Given the description of an element on the screen output the (x, y) to click on. 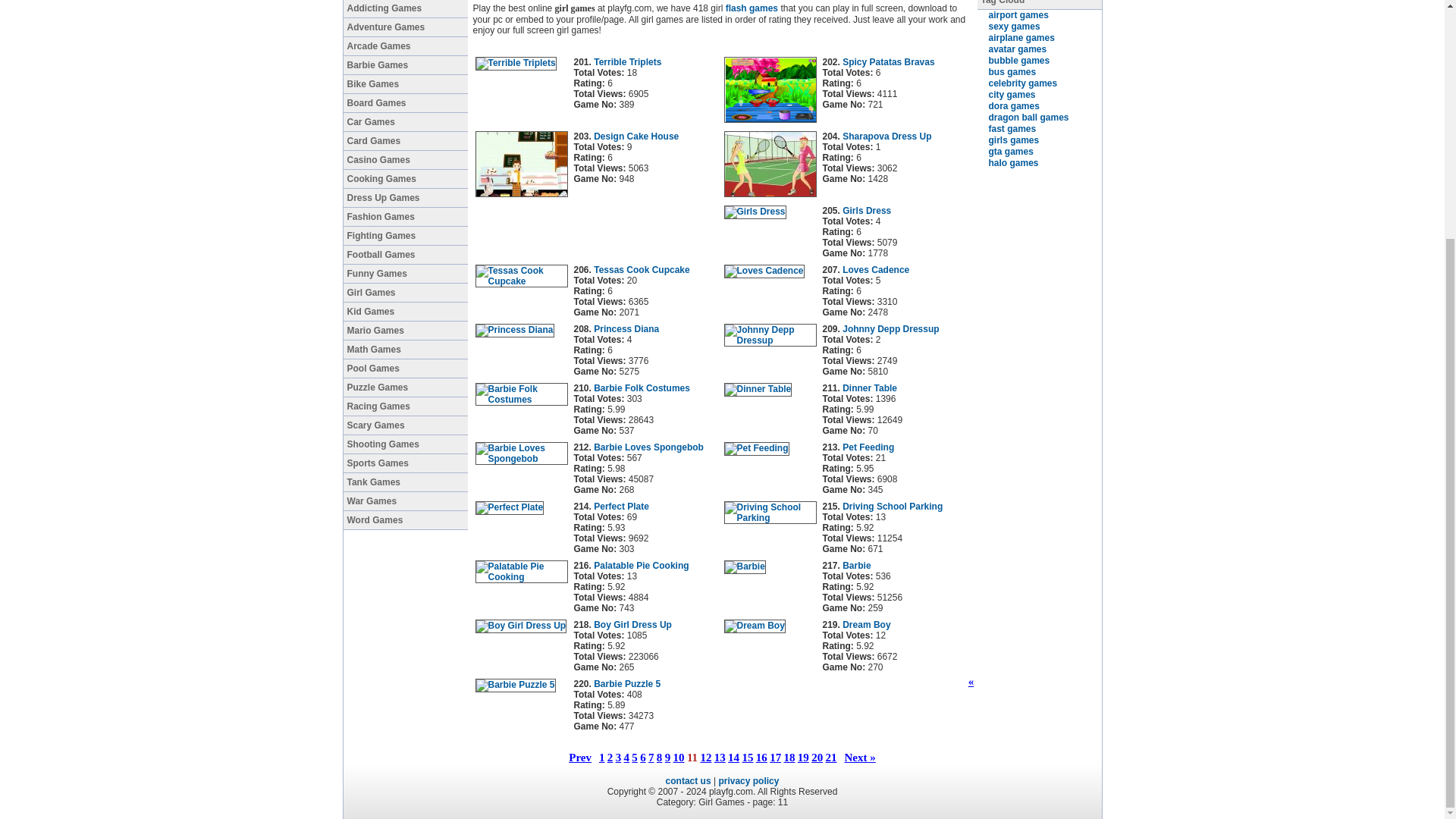
Car Games (404, 122)
Arcade Games (404, 46)
Word Games (404, 520)
Girl Games (404, 292)
Shooting Games (404, 444)
Mario Games (404, 330)
Fighting Games (404, 235)
Math Games (404, 349)
Football Games (404, 254)
Racing Games (404, 406)
Addicting Games (404, 9)
Casino Games (404, 159)
Adventure Games (404, 27)
Tank Games (404, 482)
Cooking Games (404, 179)
